Given the description of an element on the screen output the (x, y) to click on. 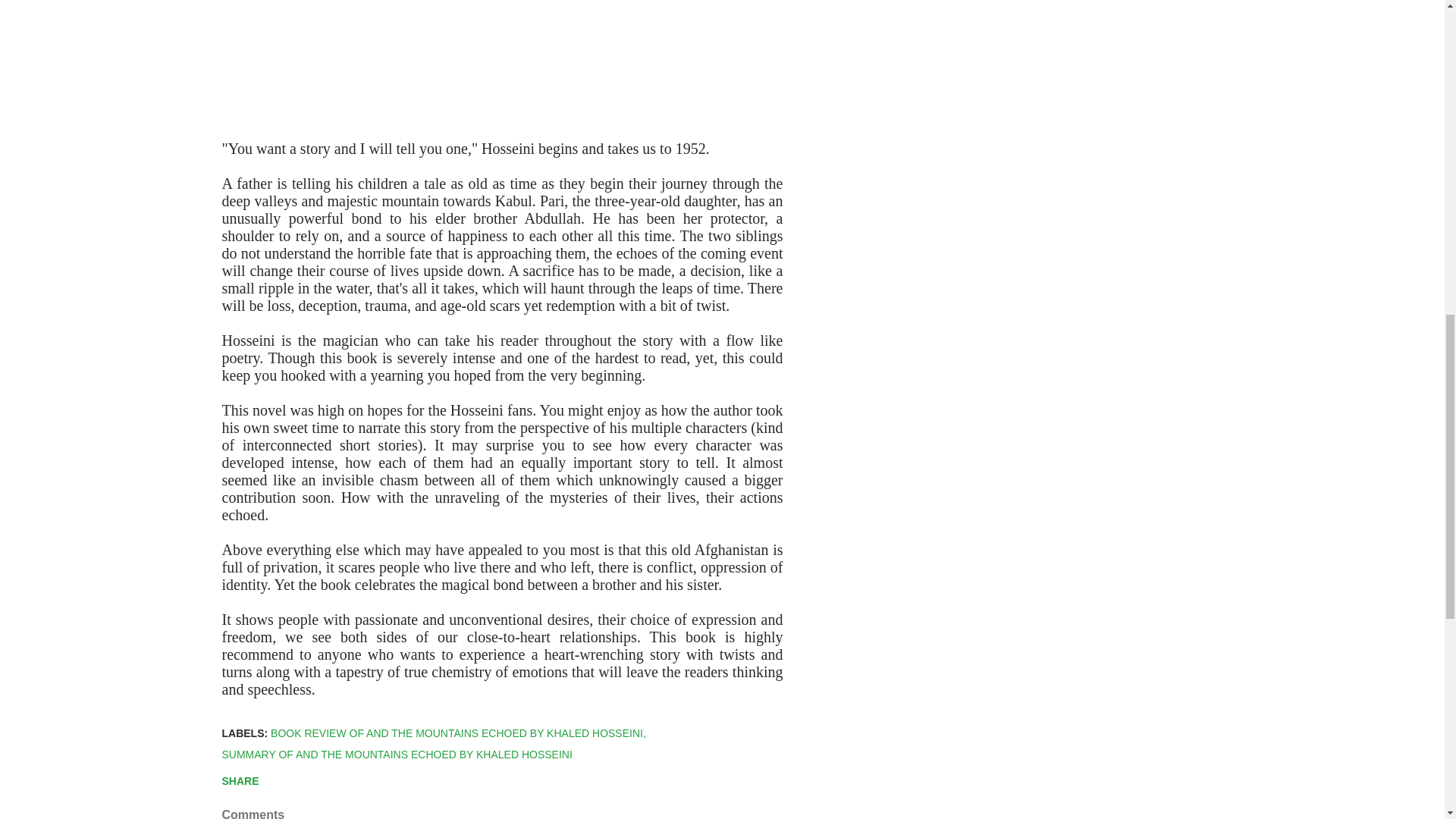
BOOK REVIEW OF AND THE MOUNTAINS ECHOED BY KHALED HOSSEINI (458, 732)
SUMMARY OF AND THE MOUNTAINS ECHOED BY KHALED HOSSEINI (396, 753)
SHARE (239, 781)
